Given the description of an element on the screen output the (x, y) to click on. 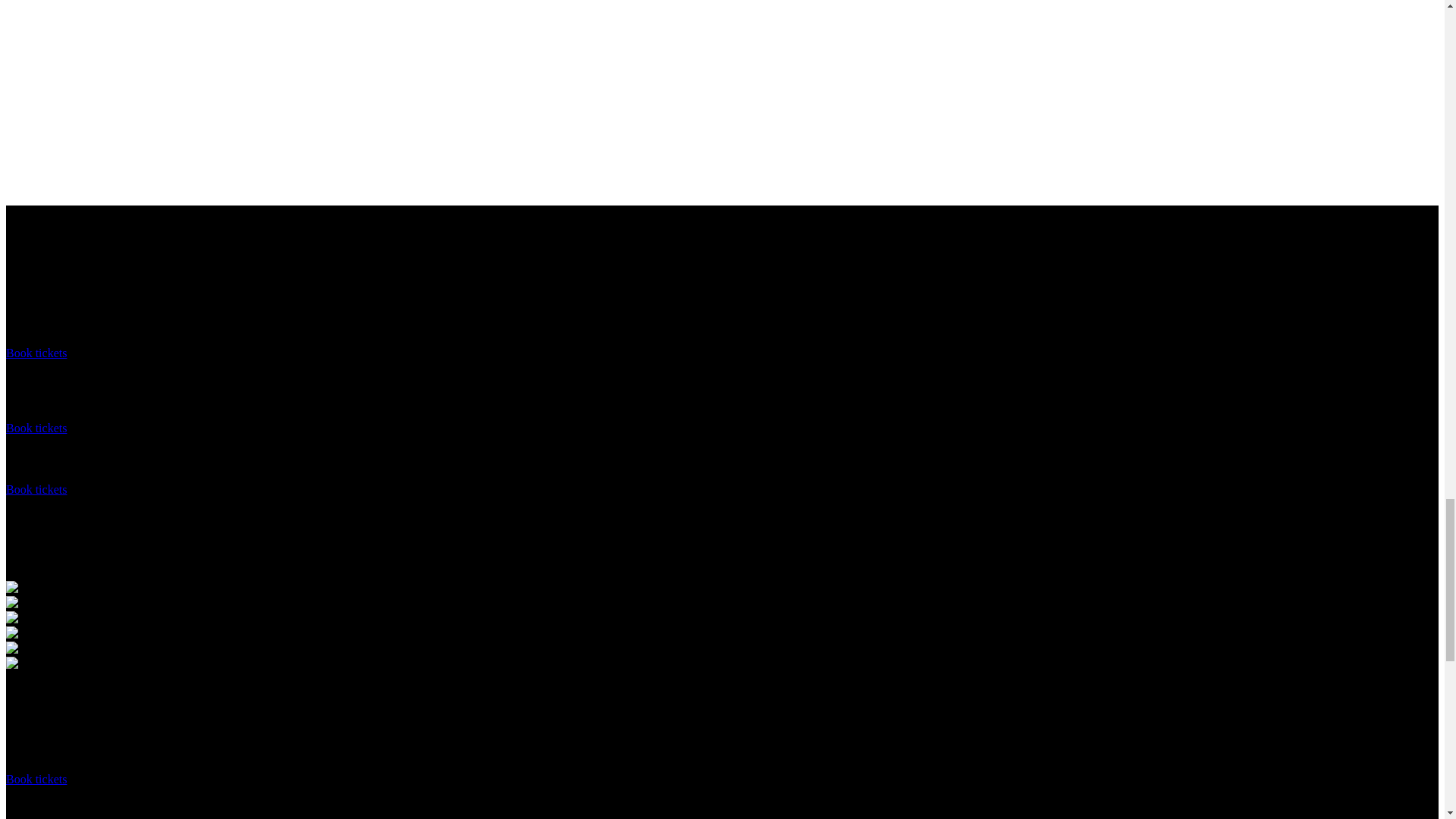
Book tickets (35, 779)
Book tickets (35, 427)
Book tickets (35, 352)
Book tickets (35, 489)
